Given the description of an element on the screen output the (x, y) to click on. 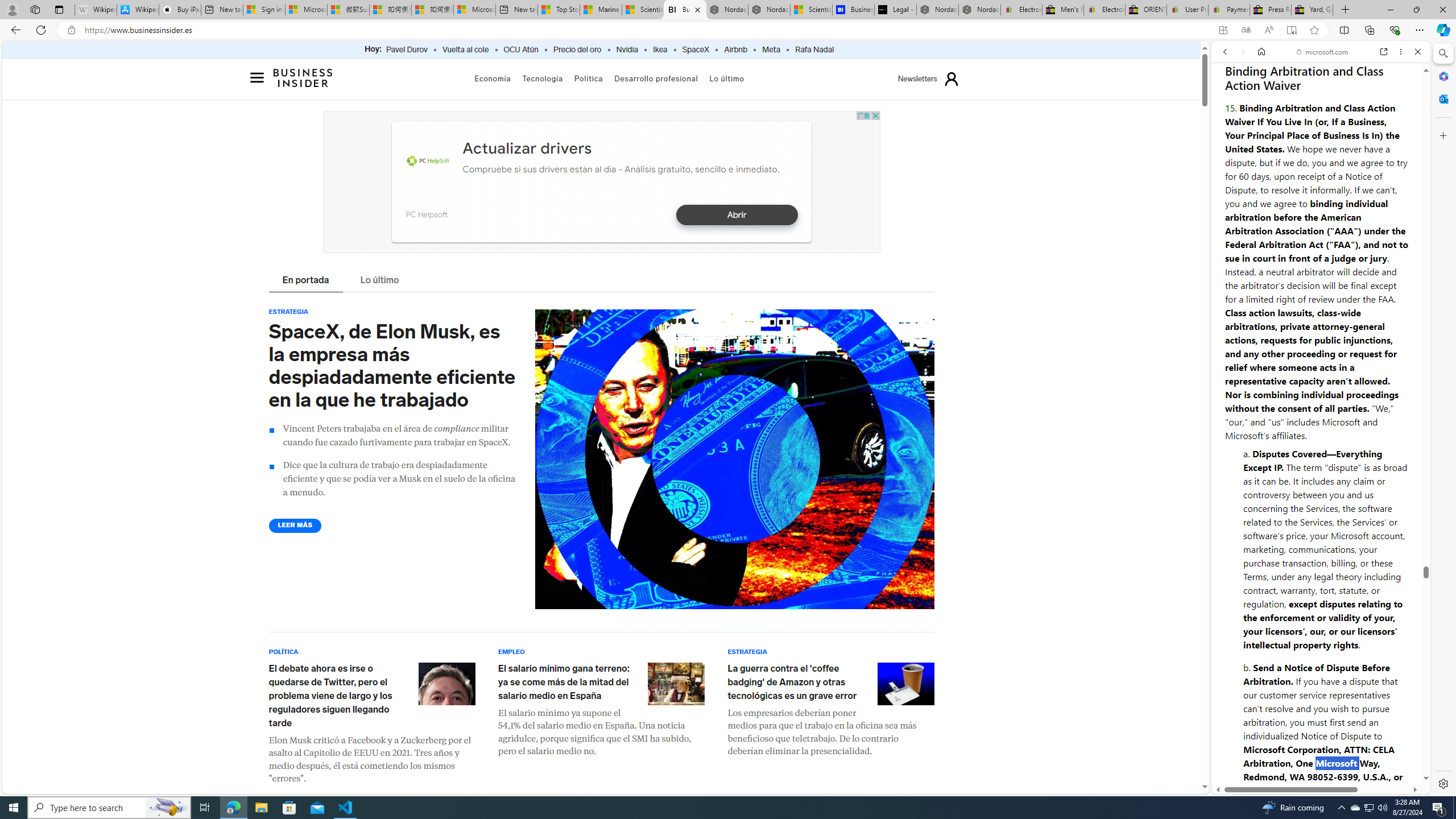
Elon Musk (446, 683)
App available (1222, 29)
PC Helpsoft (427, 161)
Coffee Badgings (905, 683)
Logo BusinessInsider.es (303, 76)
Desarrollo profesional (656, 78)
Newsletters (916, 78)
